Given the description of an element on the screen output the (x, y) to click on. 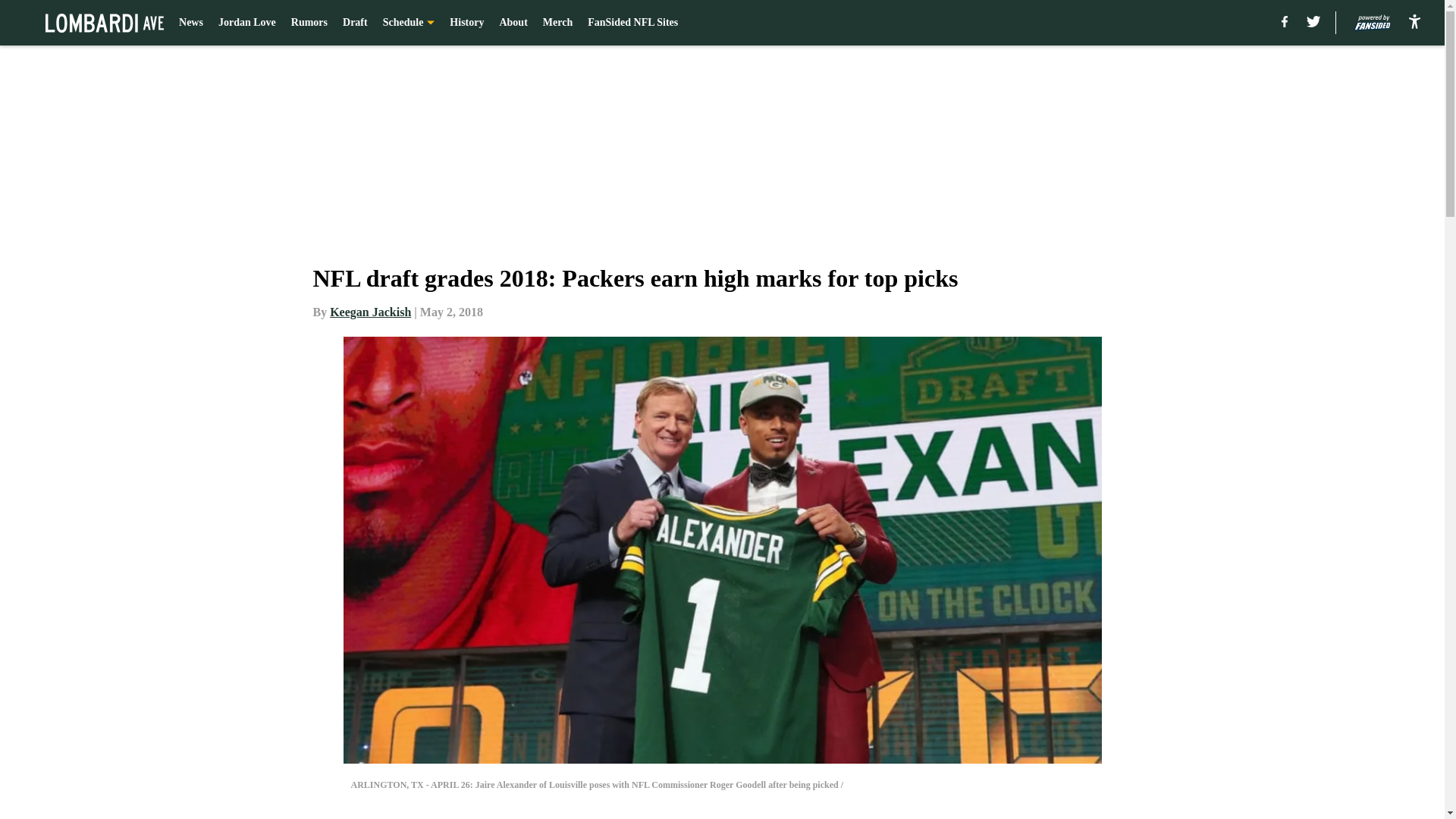
Jordan Love (247, 22)
Draft (355, 22)
About (513, 22)
Merch (557, 22)
Rumors (309, 22)
FanSided NFL Sites (633, 22)
News (191, 22)
History (466, 22)
Keegan Jackish (370, 311)
